Given the description of an element on the screen output the (x, y) to click on. 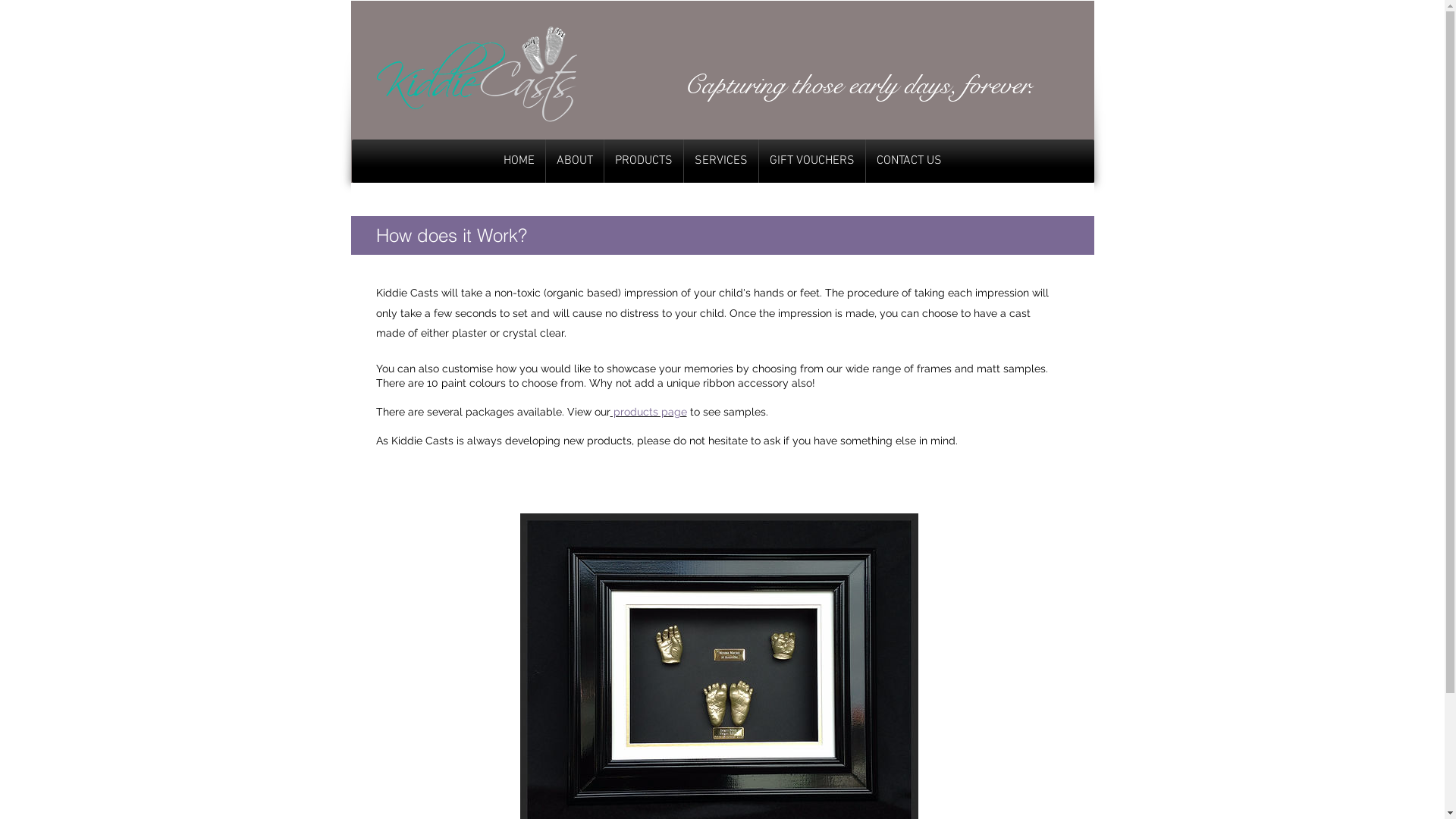
 products page Element type: text (647, 411)
CONTACT US Element type: text (909, 160)
GIFT VOUCHERS Element type: text (812, 160)
SERVICES Element type: text (721, 160)
HOME Element type: text (518, 160)
